Given the description of an element on the screen output the (x, y) to click on. 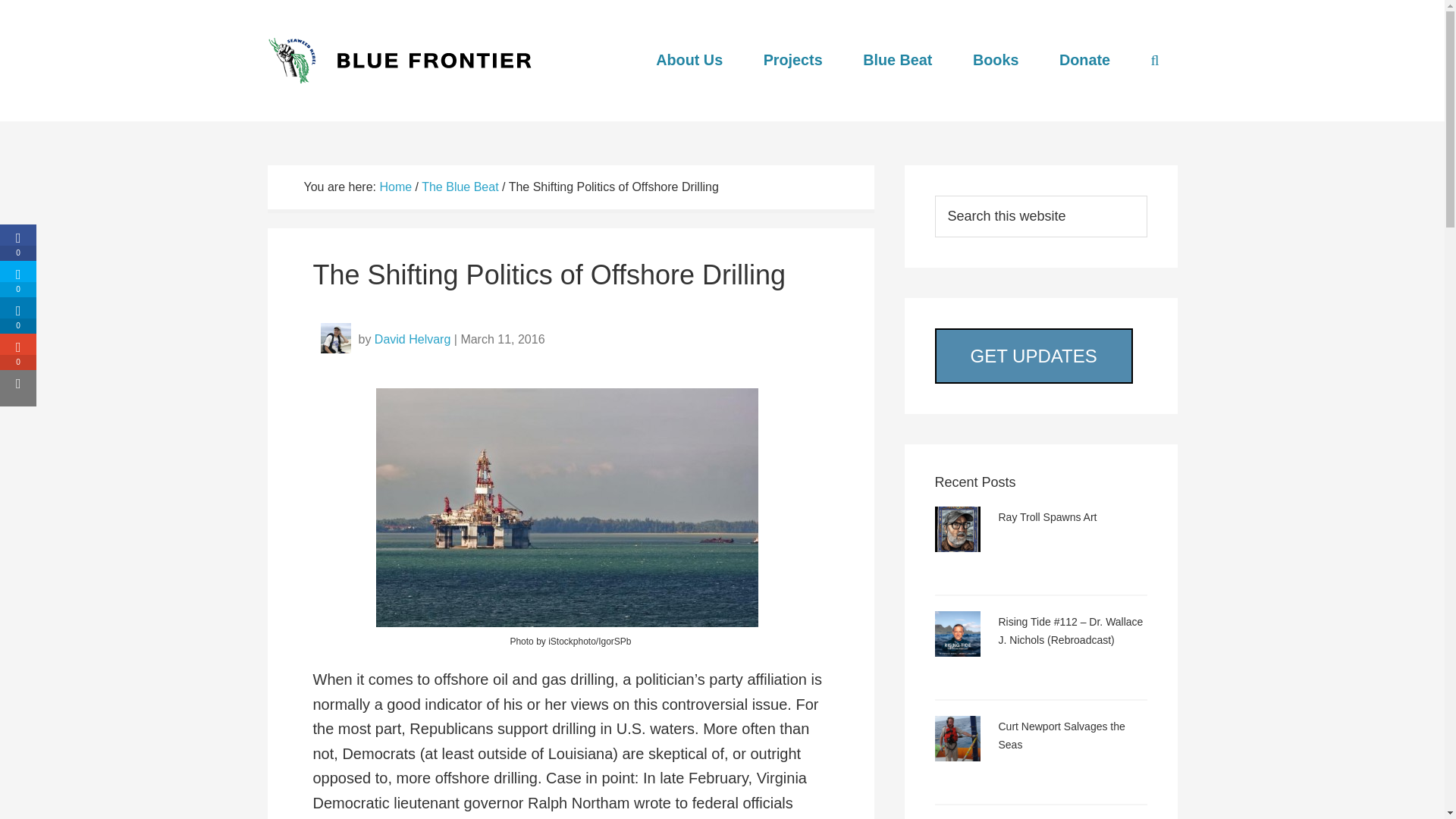
Projects (793, 60)
Home (395, 186)
Books (995, 60)
Blue Beat (897, 60)
The Blue Beat (459, 186)
Donate (1084, 60)
David Helvarg (411, 338)
Blue Frontier (403, 60)
About Us (689, 60)
